Given the description of an element on the screen output the (x, y) to click on. 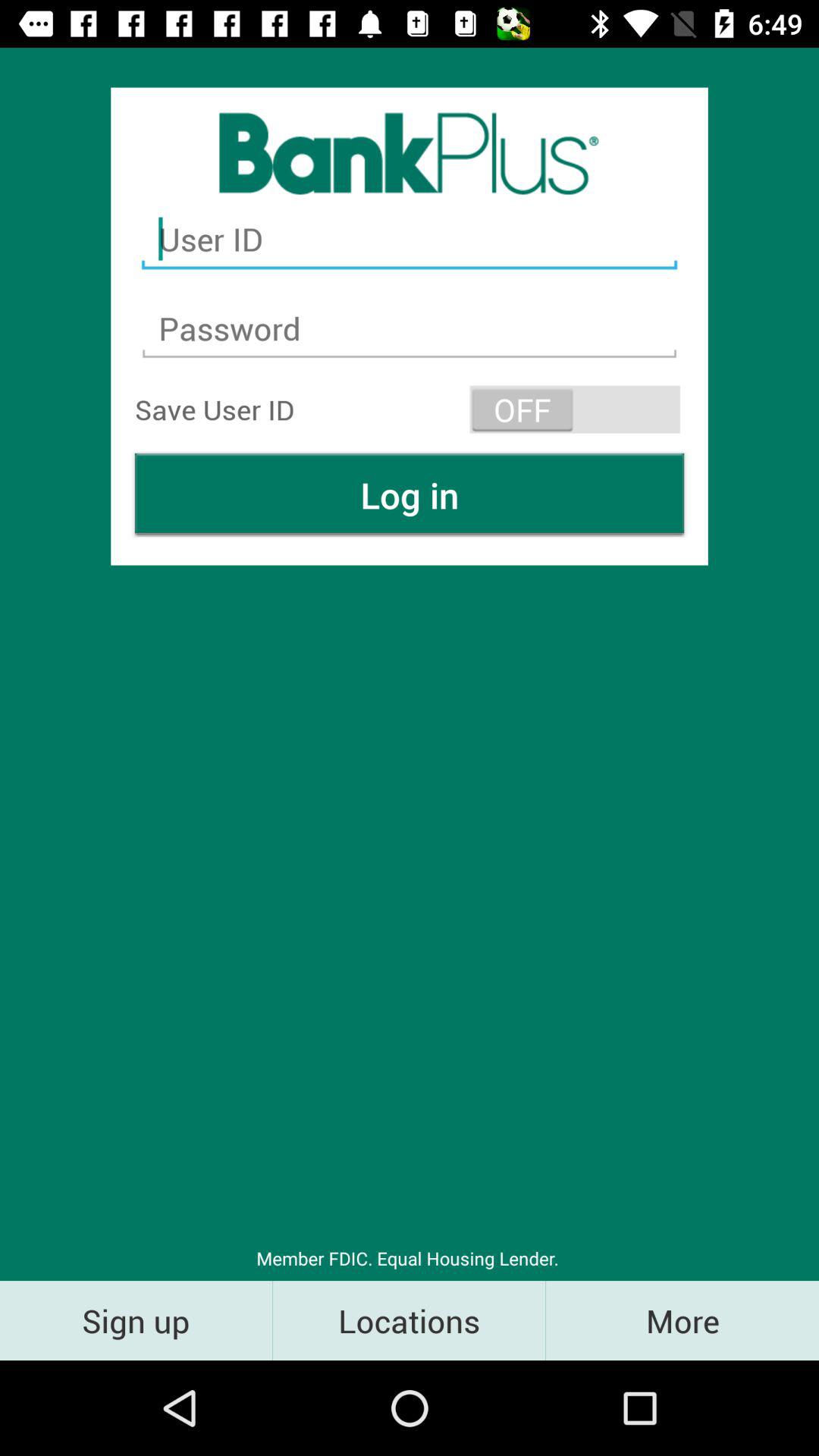
select the item next to the locations icon (682, 1320)
